Given the description of an element on the screen output the (x, y) to click on. 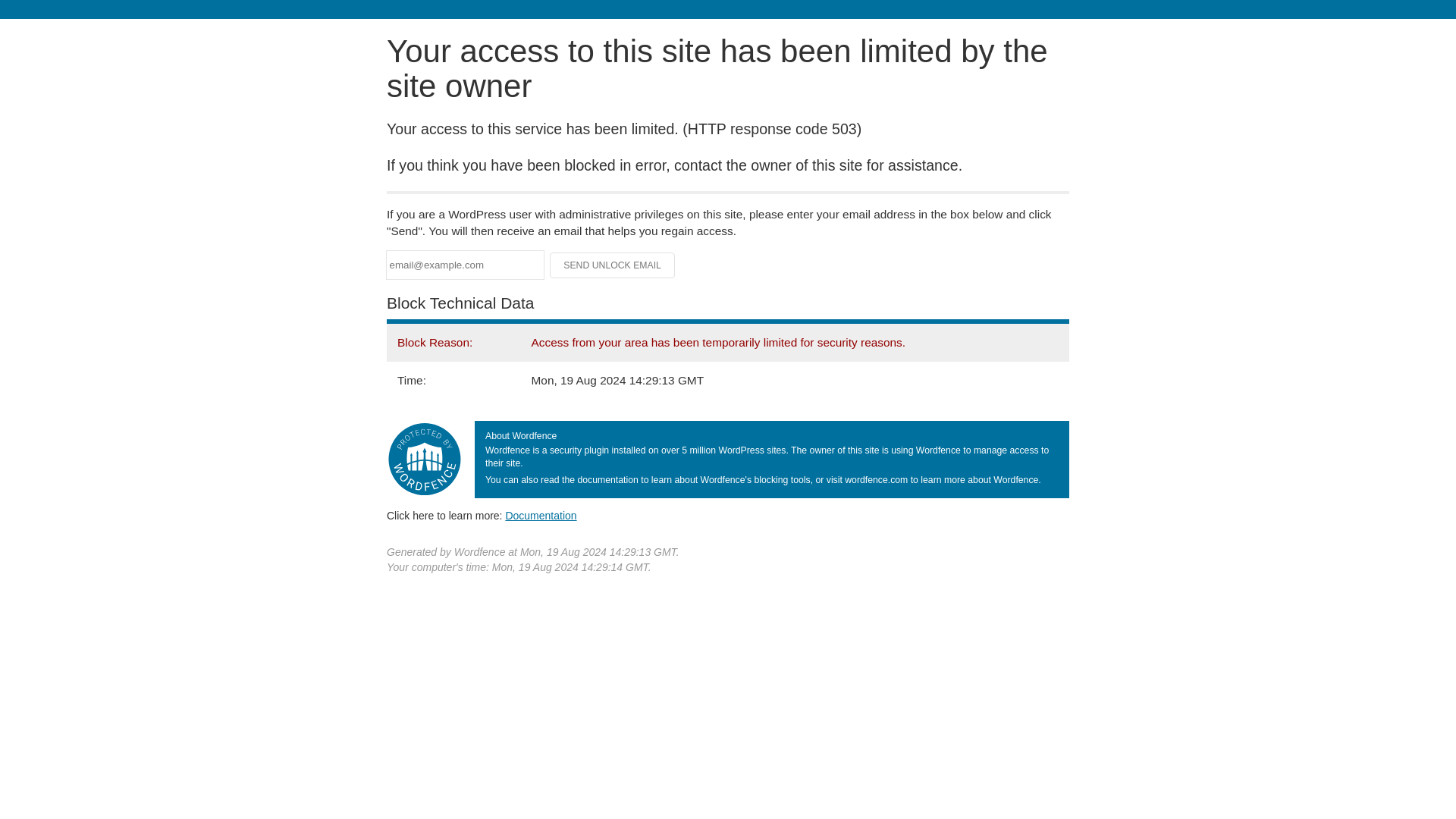
Documentation (540, 515)
Send Unlock Email (612, 265)
Send Unlock Email (612, 265)
